Given the description of an element on the screen output the (x, y) to click on. 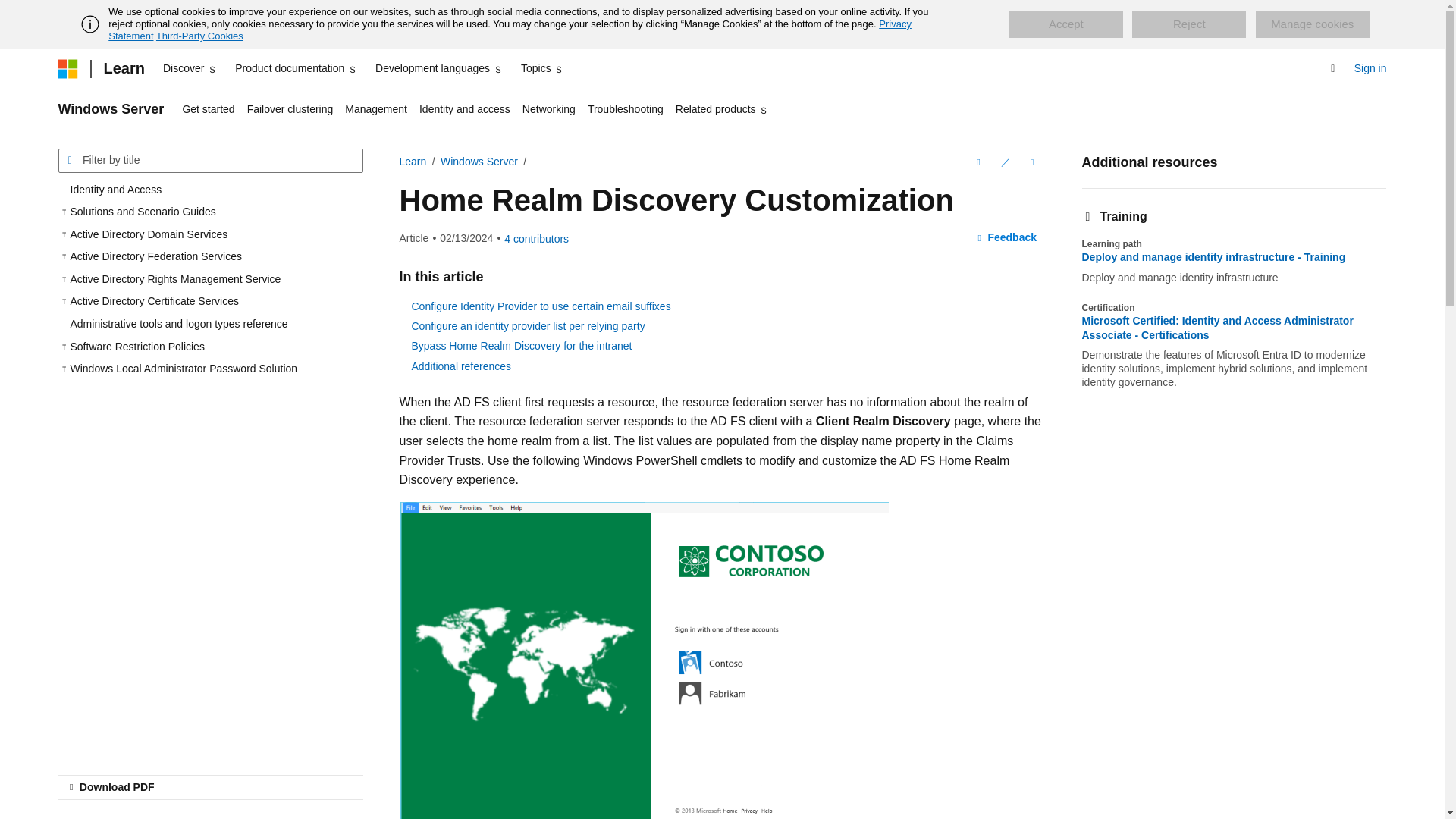
Reject (1189, 23)
Failover clustering (290, 109)
View all contributors (536, 238)
More actions (1031, 161)
Get started (208, 109)
Troubleshooting (624, 109)
Related products (721, 109)
Product documentation (295, 68)
Identity and access (464, 109)
Learn (123, 68)
Identity and Access (210, 190)
Topics (542, 68)
Networking (548, 109)
Edit This Document (1004, 161)
Third-Party Cookies (199, 35)
